Given the description of an element on the screen output the (x, y) to click on. 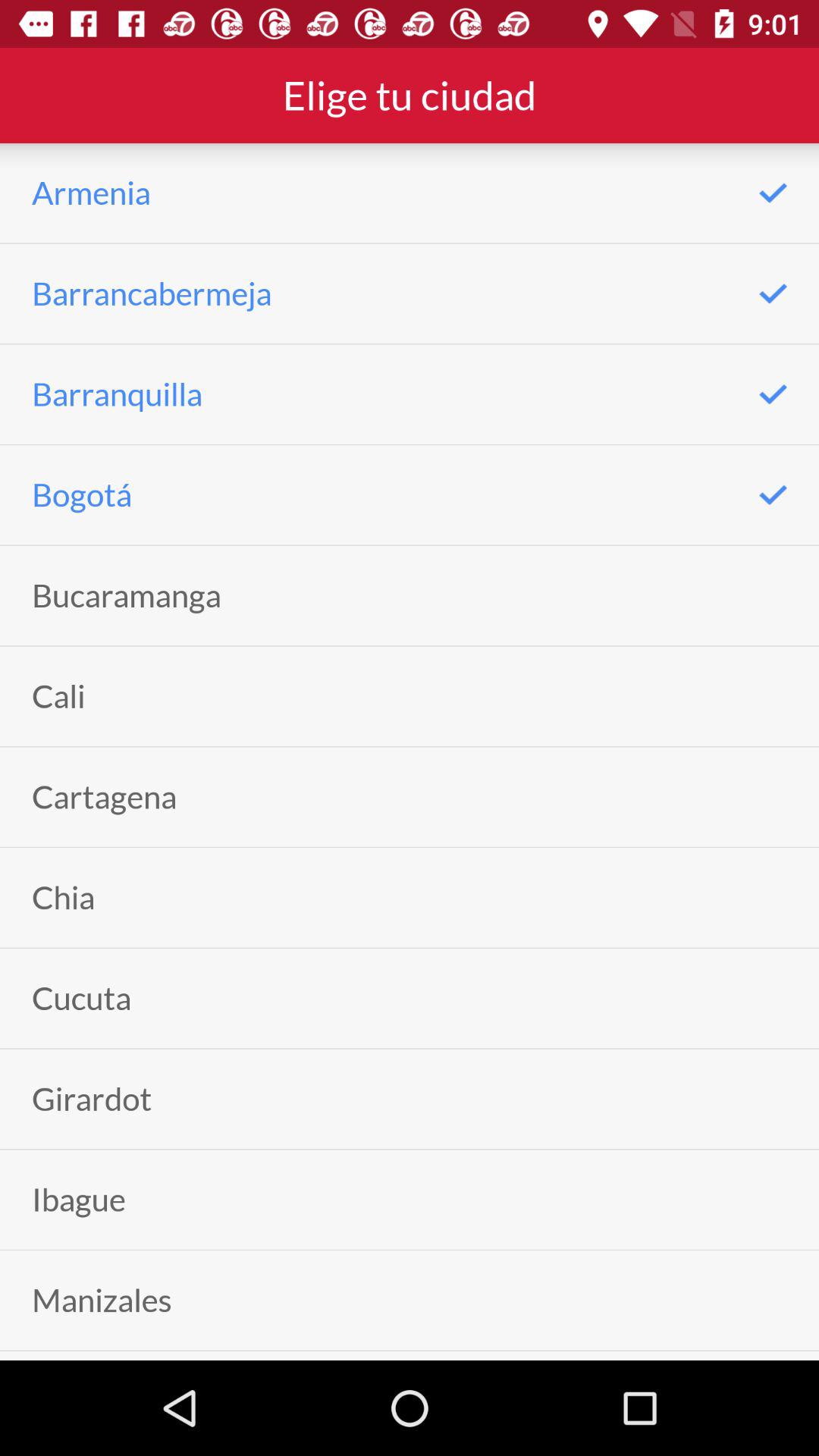
select item above barrancabermeja app (90, 193)
